Given the description of an element on the screen output the (x, y) to click on. 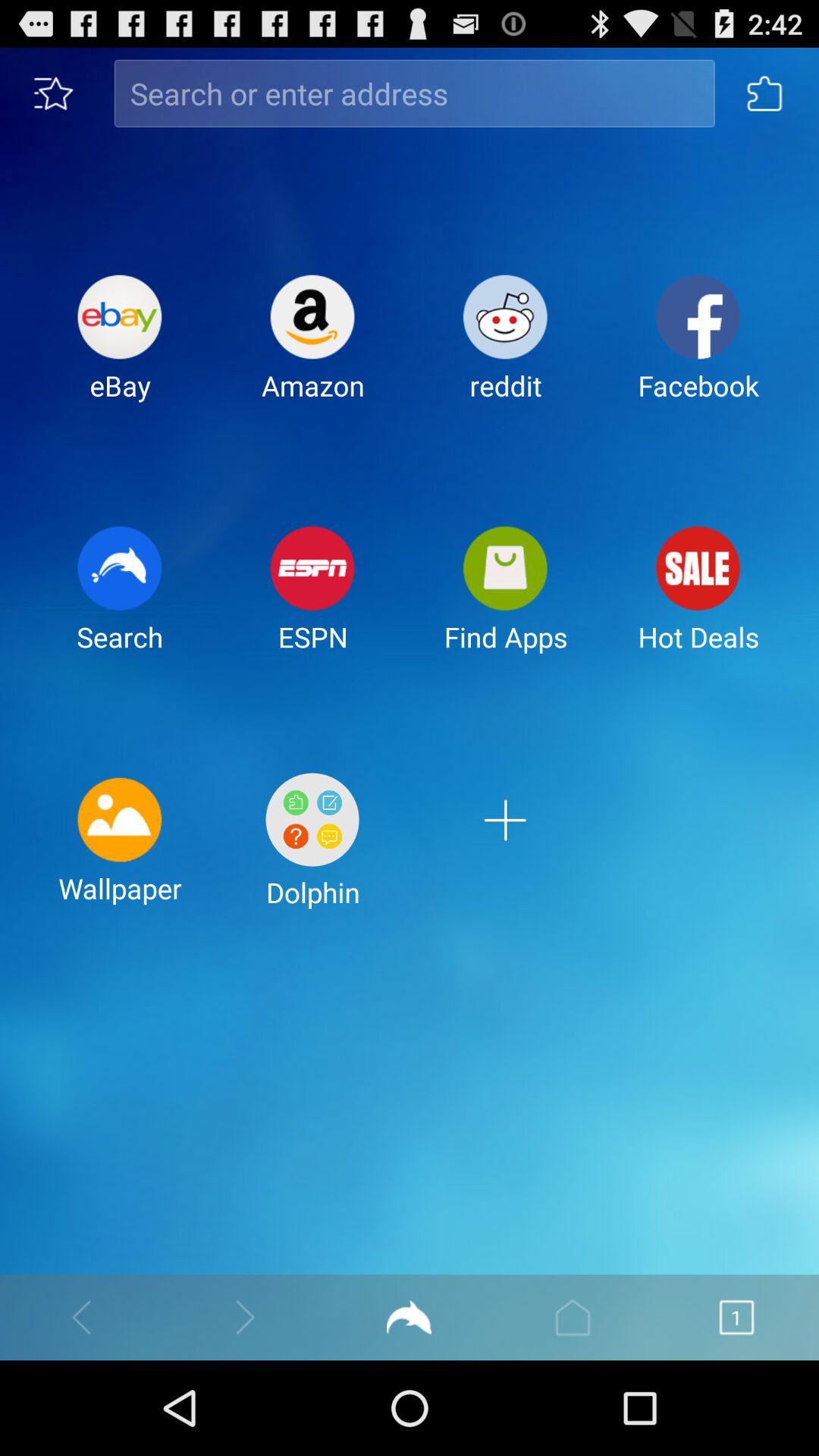
open the reddit item (505, 349)
